Given the description of an element on the screen output the (x, y) to click on. 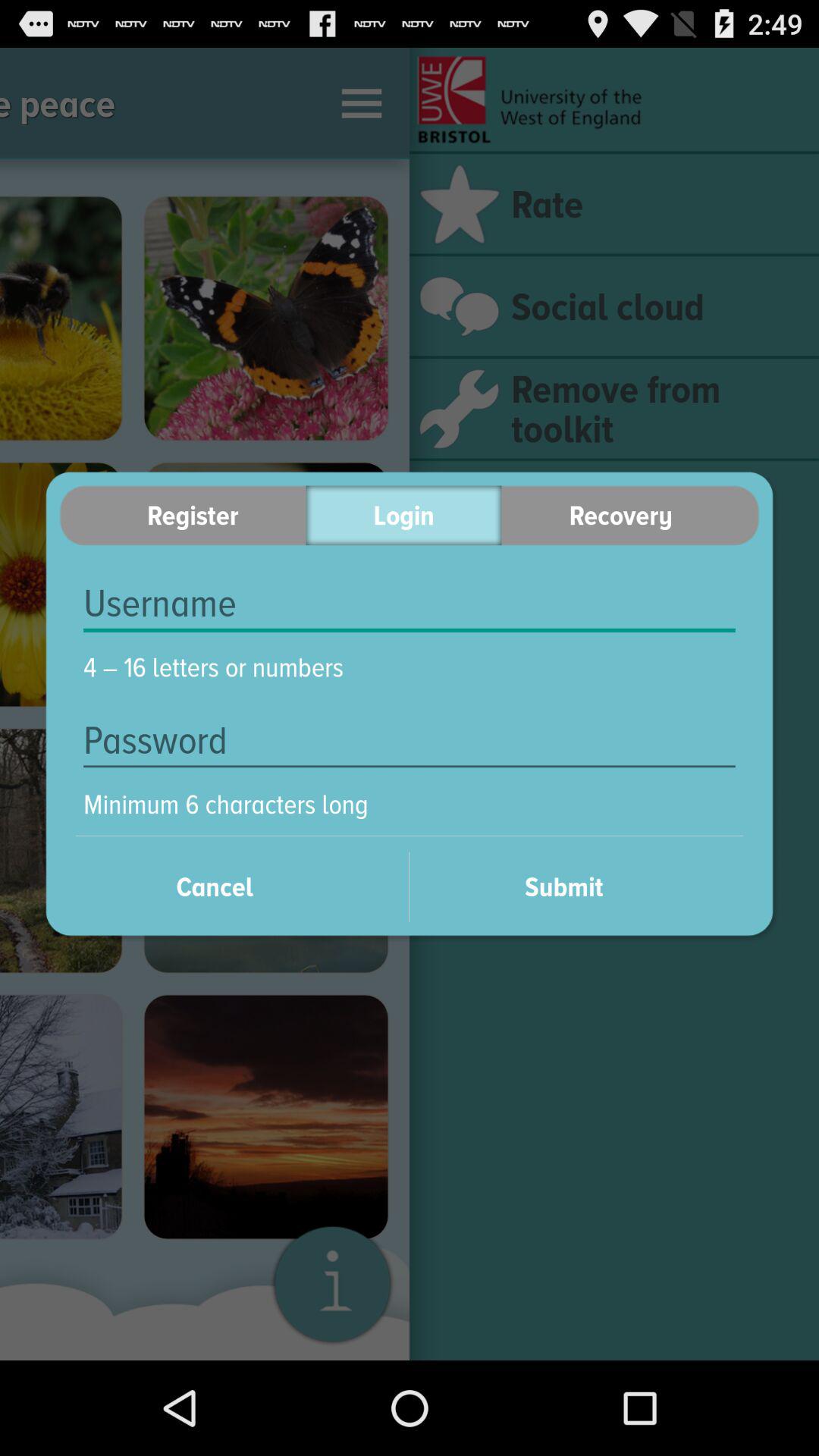
press the item next to the login item (182, 515)
